Given the description of an element on the screen output the (x, y) to click on. 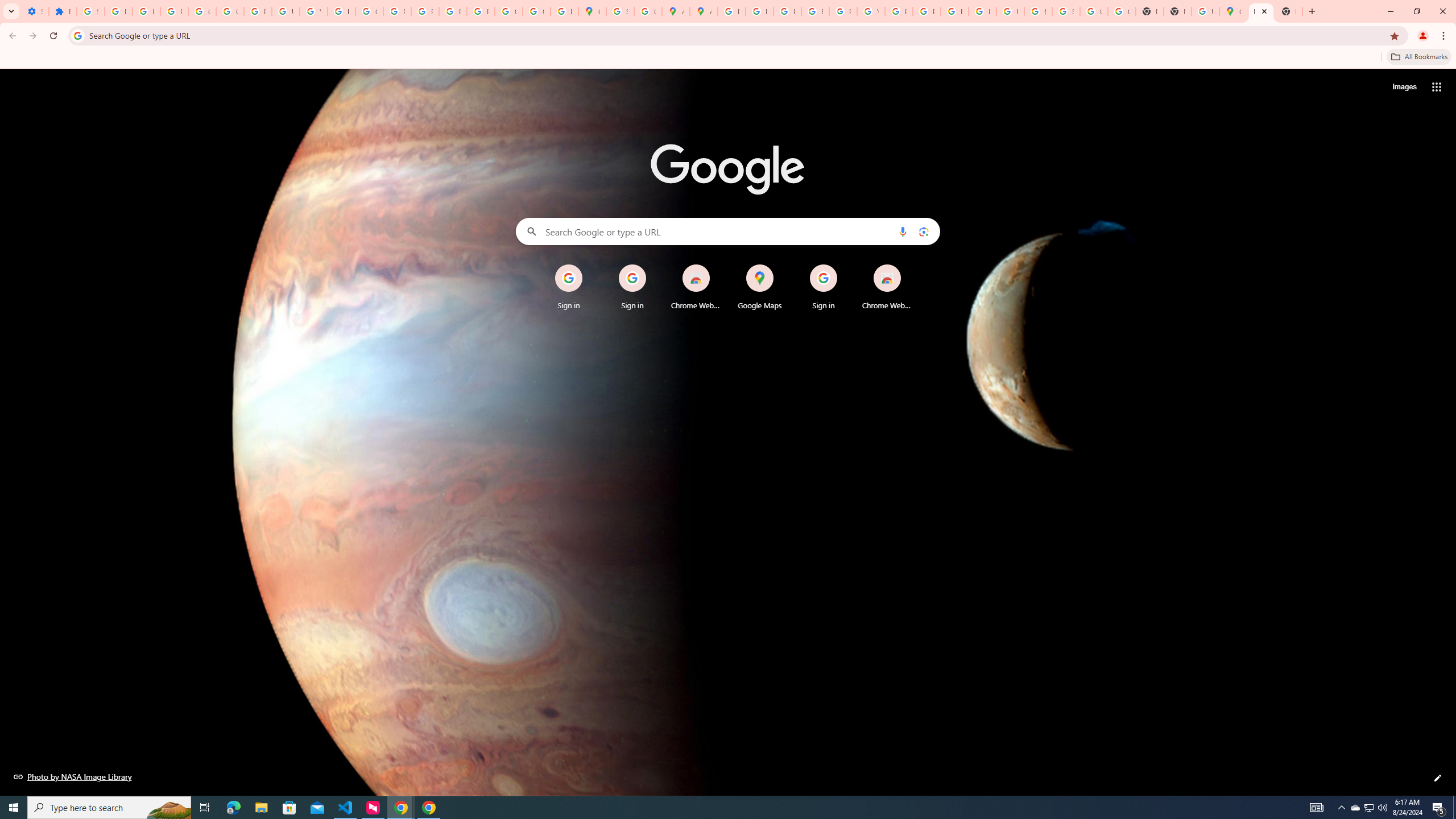
YouTube (313, 11)
Policy Accountability and Transparency - Transparency Center (731, 11)
